Given the description of an element on the screen output the (x, y) to click on. 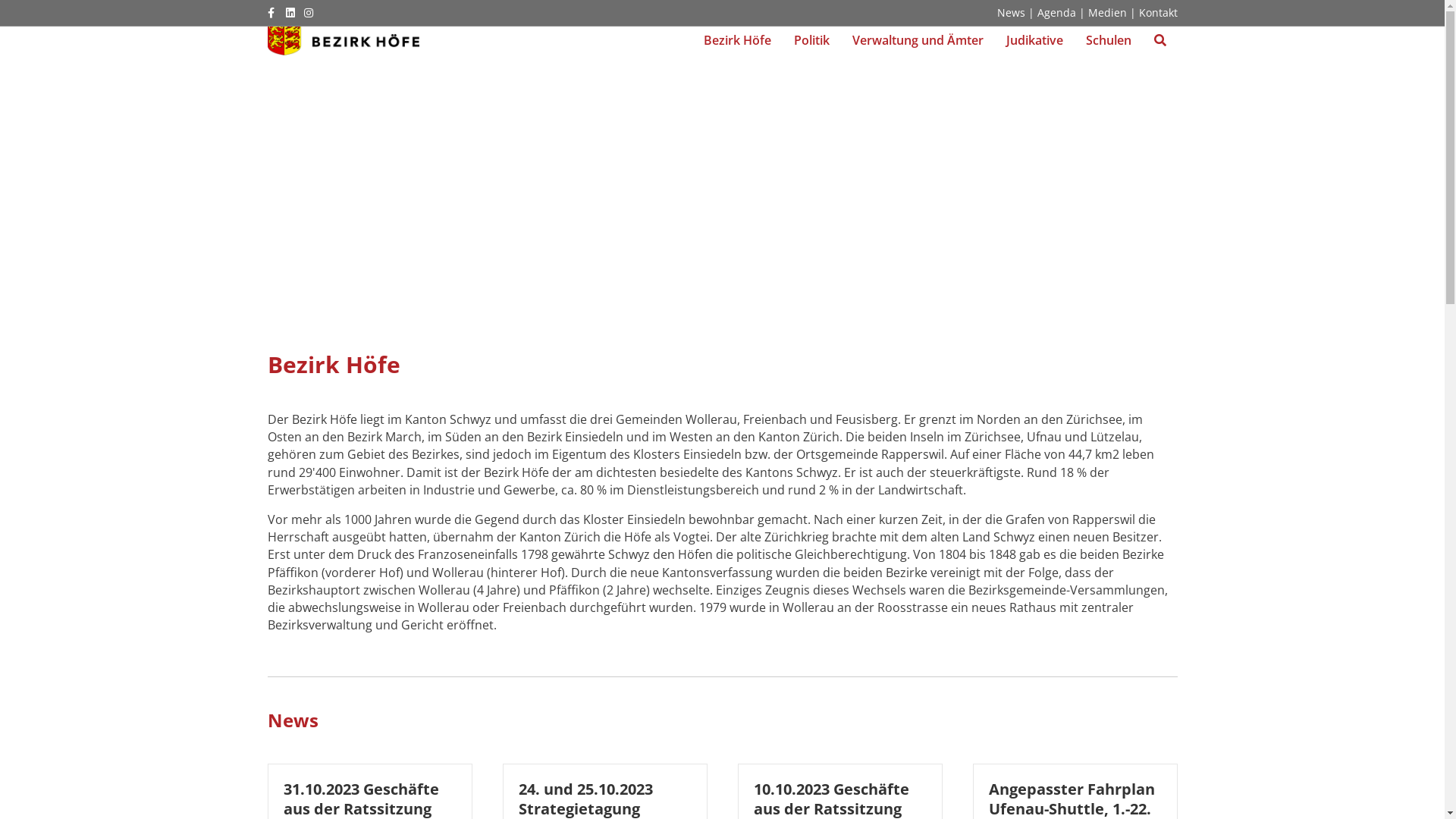
News Element type: text (291, 719)
News Element type: text (1010, 12)
Suche Element type: hover (1159, 39)
Facebook Element type: text (275, 11)
Instagram Element type: text (312, 11)
Politik Element type: text (811, 39)
Agenda Element type: text (1056, 12)
Judikative Element type: text (1034, 39)
Schulen Element type: text (1107, 39)
Kontakt Element type: text (1158, 12)
Linkedin Element type: text (294, 11)
Medien Element type: text (1106, 12)
